Given the description of an element on the screen output the (x, y) to click on. 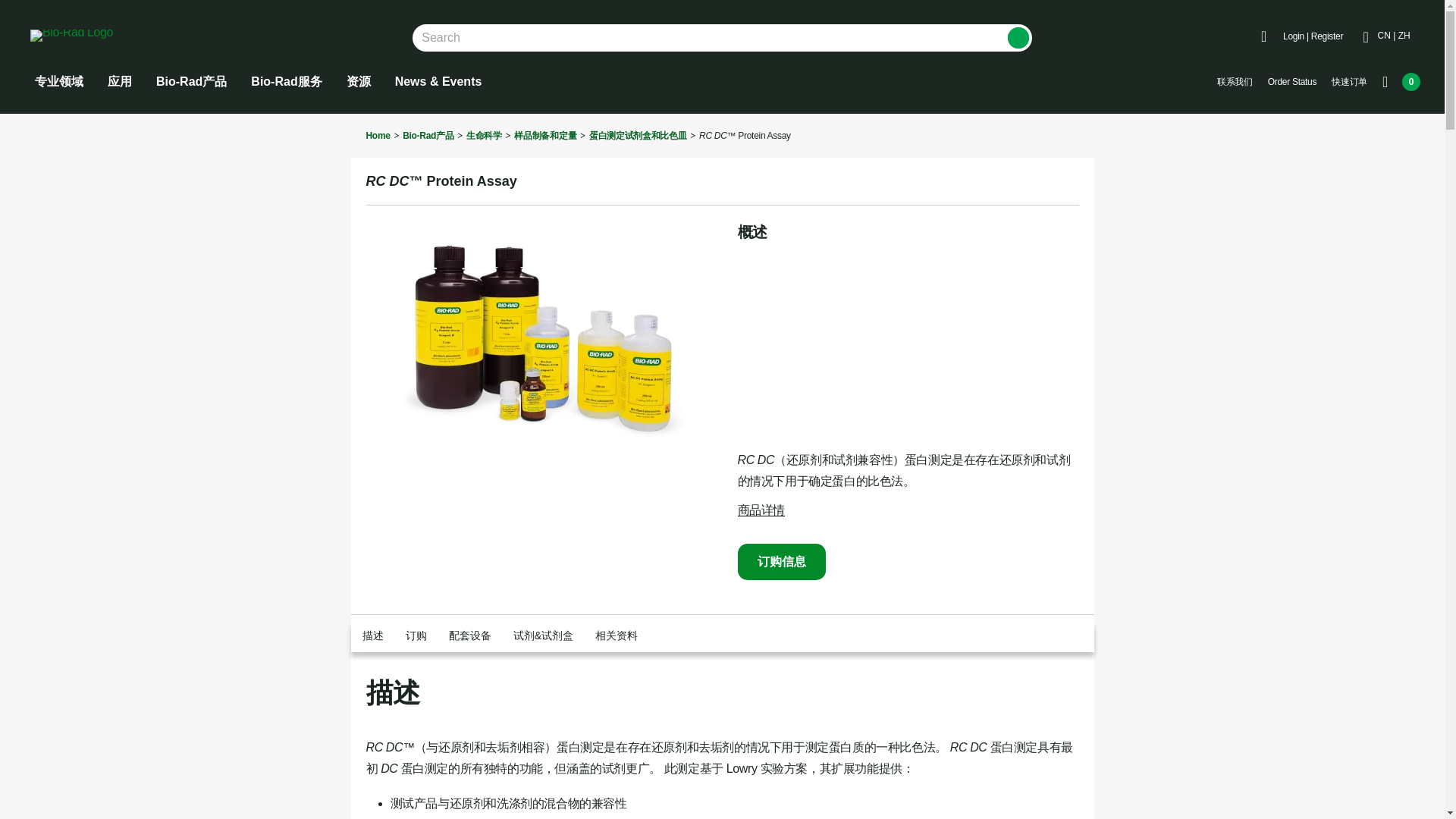
Order Status (1291, 81)
Search (1018, 37)
Bio-Rad (92, 34)
Bio-Rad (71, 35)
Shopping Cart (1401, 81)
Search (1018, 37)
0 (1401, 81)
Order Status (1291, 81)
